Given the description of an element on the screen output the (x, y) to click on. 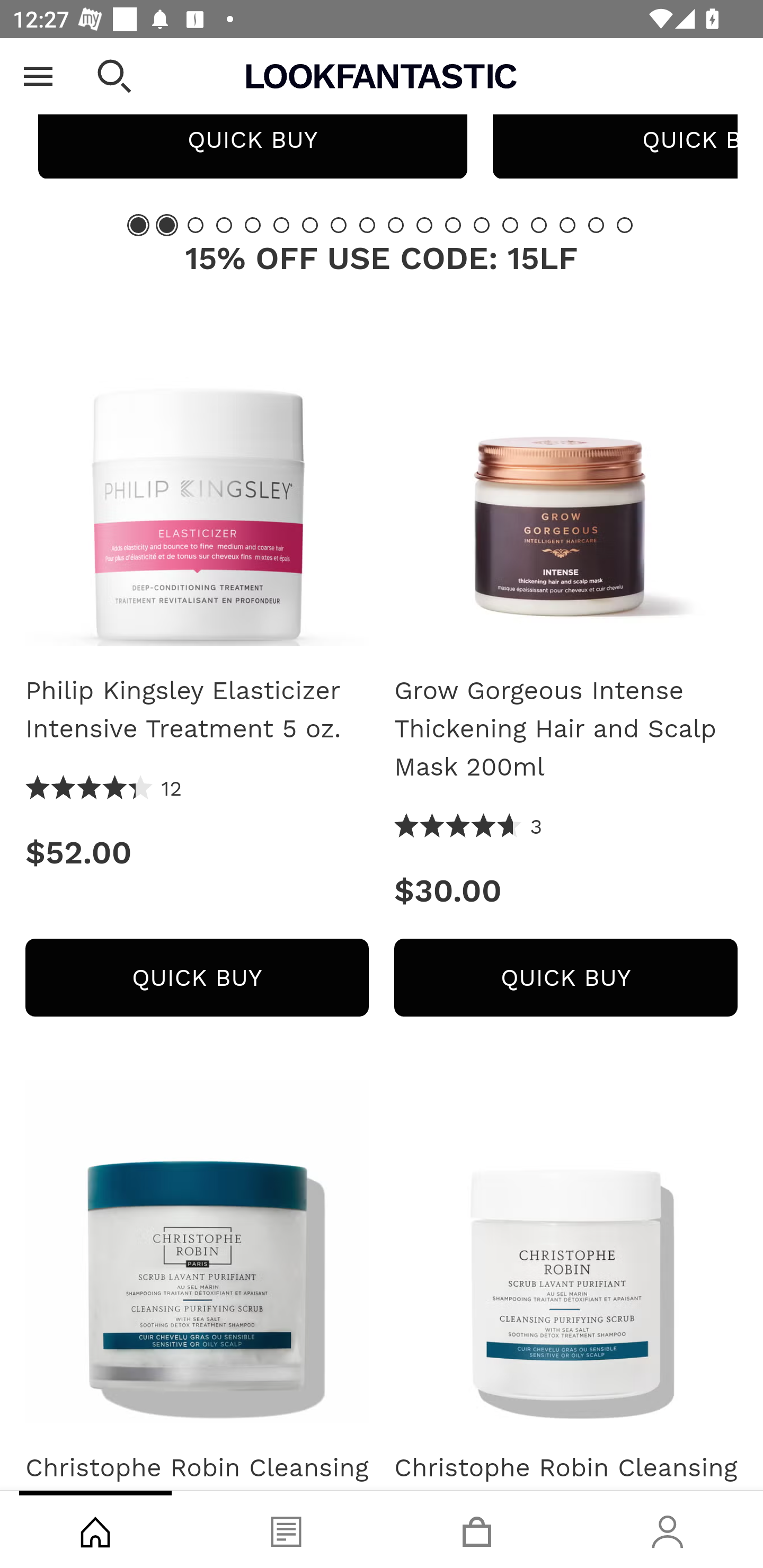
QUICK BUY NATASHA DENONA I NEED A NUDE PALETTE (252, 140)
Showing Slide 1 (Current Item) (138, 224)
Showing Slide 2 (Current Item) (166, 224)
Slide 3 (195, 224)
Slide 4 (223, 224)
Slide 5 (252, 224)
Slide 6 (281, 224)
Slide 7 (310, 224)
Slide 8 (338, 224)
Slide 9 (367, 224)
Slide 10 (395, 224)
Slide 11 (424, 224)
Slide 12 (452, 224)
Slide 13 (481, 224)
Slide 14 (510, 224)
Slide 15 (539, 224)
Slide 16 (567, 224)
Slide 17 (596, 224)
Slide 18 (624, 224)
4.33 Stars 12 Reviews (104, 789)
4.67 Stars 3 Reviews (468, 826)
Price: $52.00 (196, 851)
Price: $30.00 (565, 890)
Shop, tab, 1 of 4 (95, 1529)
Blog, tab, 2 of 4 (285, 1529)
Basket, tab, 3 of 4 (476, 1529)
Account, tab, 4 of 4 (667, 1529)
